Given the description of an element on the screen output the (x, y) to click on. 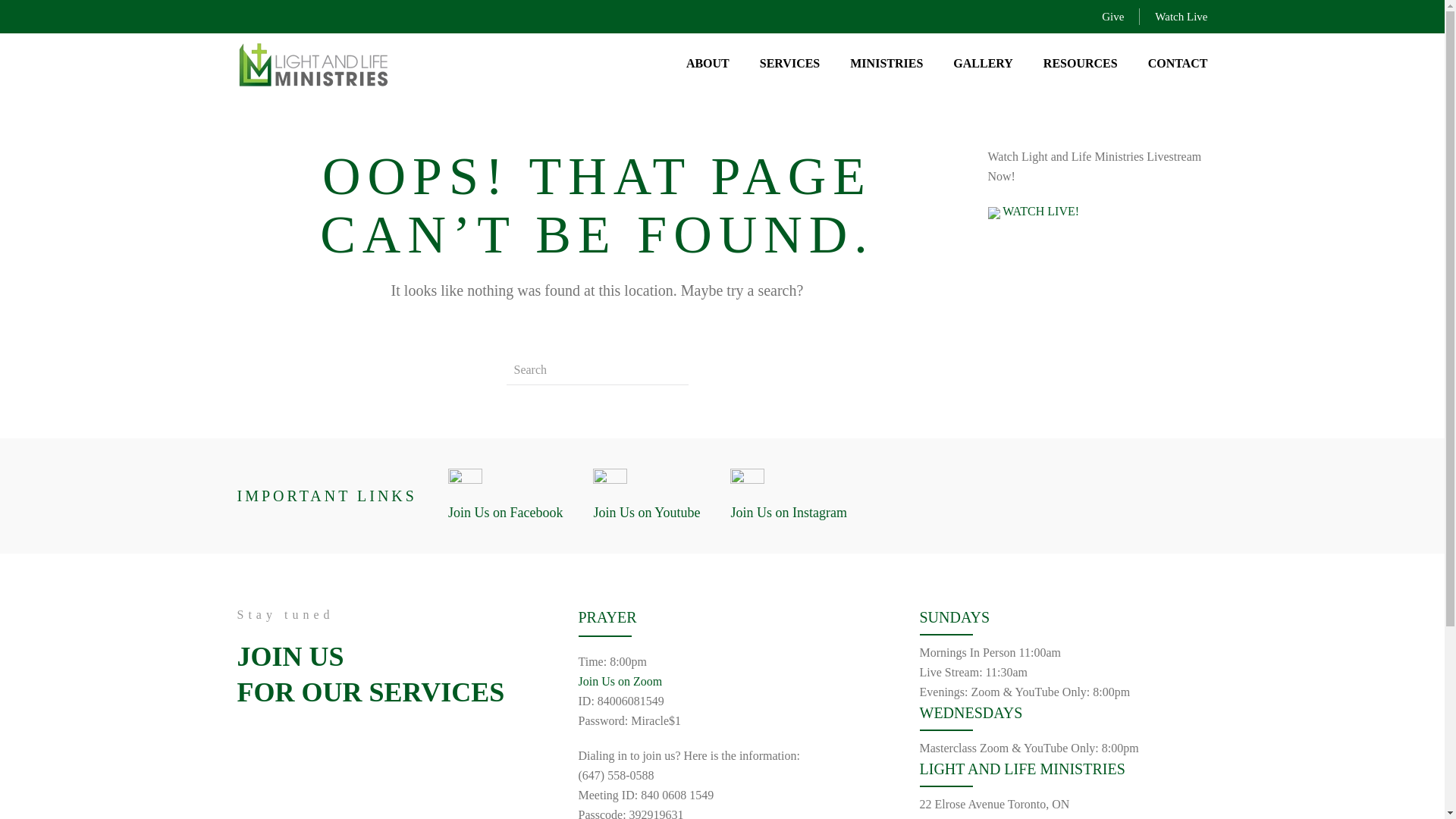
SERVICES (789, 63)
MINISTRIES (886, 63)
Watch Live (1180, 16)
Give (1113, 16)
